Given the description of an element on the screen output the (x, y) to click on. 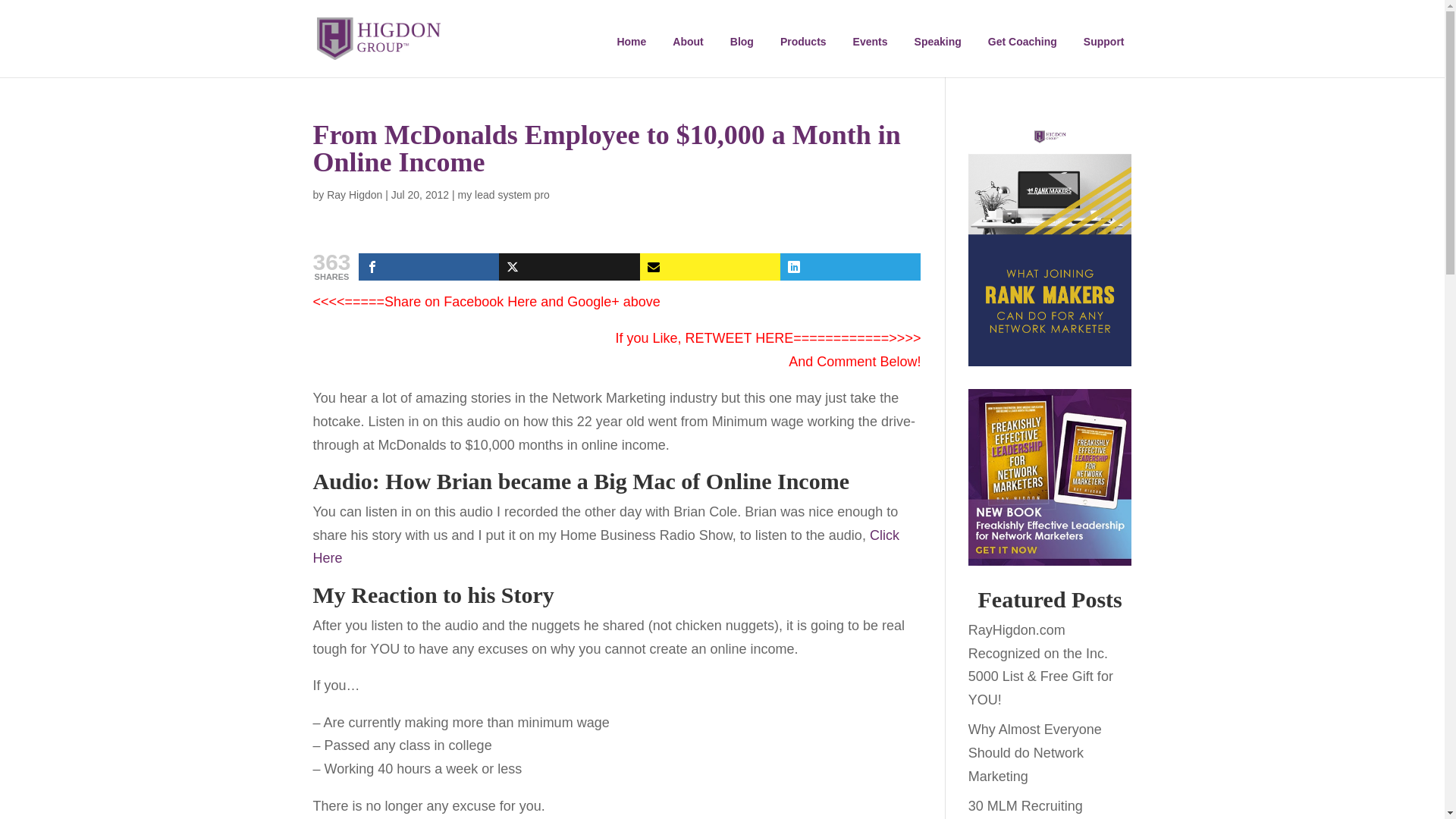
Posts by Ray Higdon (353, 194)
Facebook (428, 266)
Twitter (569, 266)
Products (803, 41)
Get Coaching (1021, 41)
Speaking (938, 41)
Events (870, 41)
Blog (741, 41)
Home (630, 41)
Support (1103, 41)
Linkedin (850, 266)
Click Here (605, 546)
Subscribe (710, 266)
my lead system pro (502, 194)
About (687, 41)
